Given the description of an element on the screen output the (x, y) to click on. 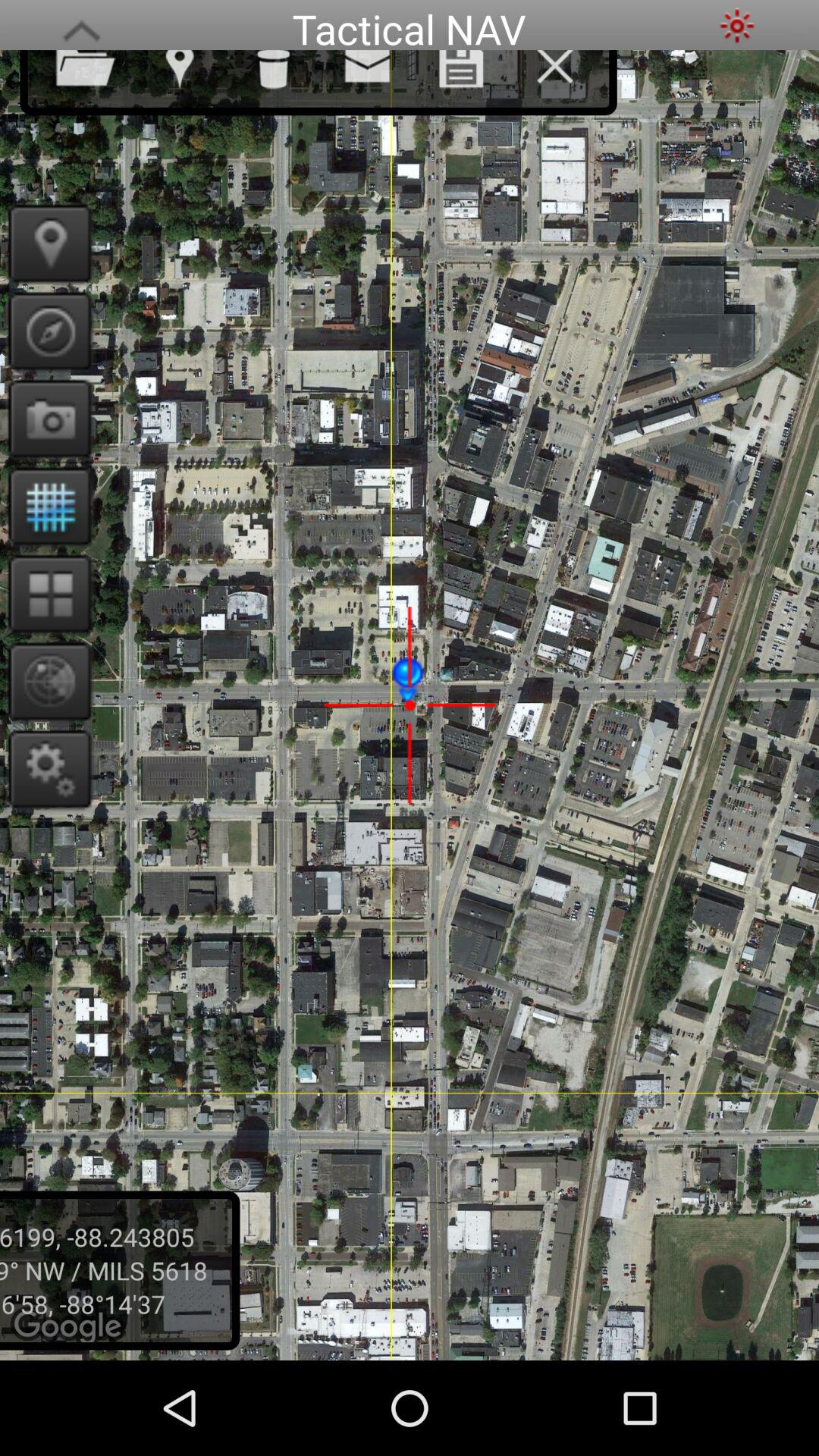
choose sunny mode (737, 25)
